Given the description of an element on the screen output the (x, y) to click on. 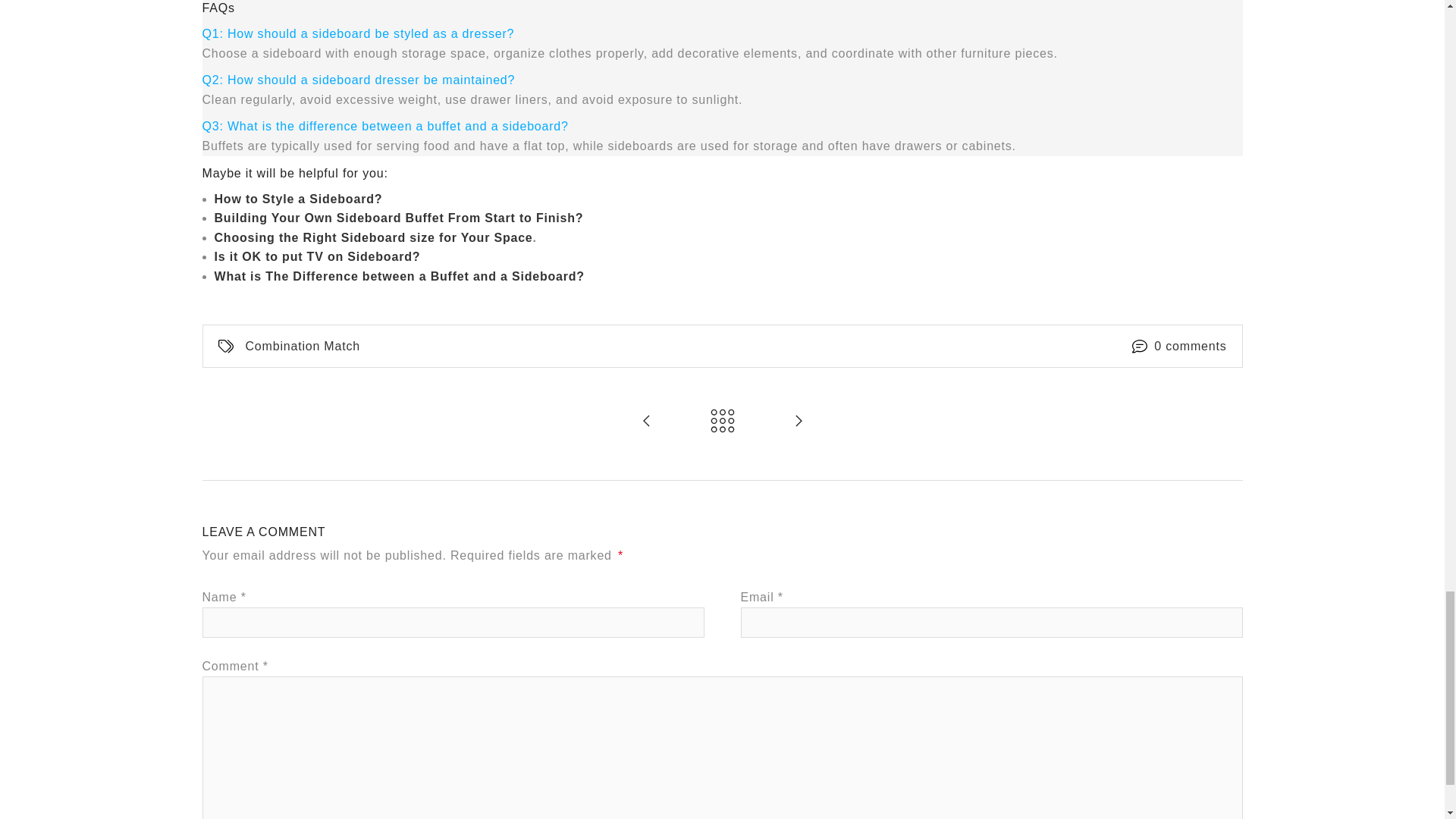
0 comments (1189, 346)
Is it OK to put TV on Sideboard? (317, 256)
Combination Match (302, 346)
What is The Difference between a Buffet and a Sideboard? (398, 276)
Choosing the Right Sideboard size for Your Space (373, 237)
Building Your Own Sideboard Buffet From Start to Finish? (398, 218)
How to Choose Accent Chair Color? (646, 421)
How to Style a Sideboard? (297, 199)
Back to News (722, 421)
